Given the description of an element on the screen output the (x, y) to click on. 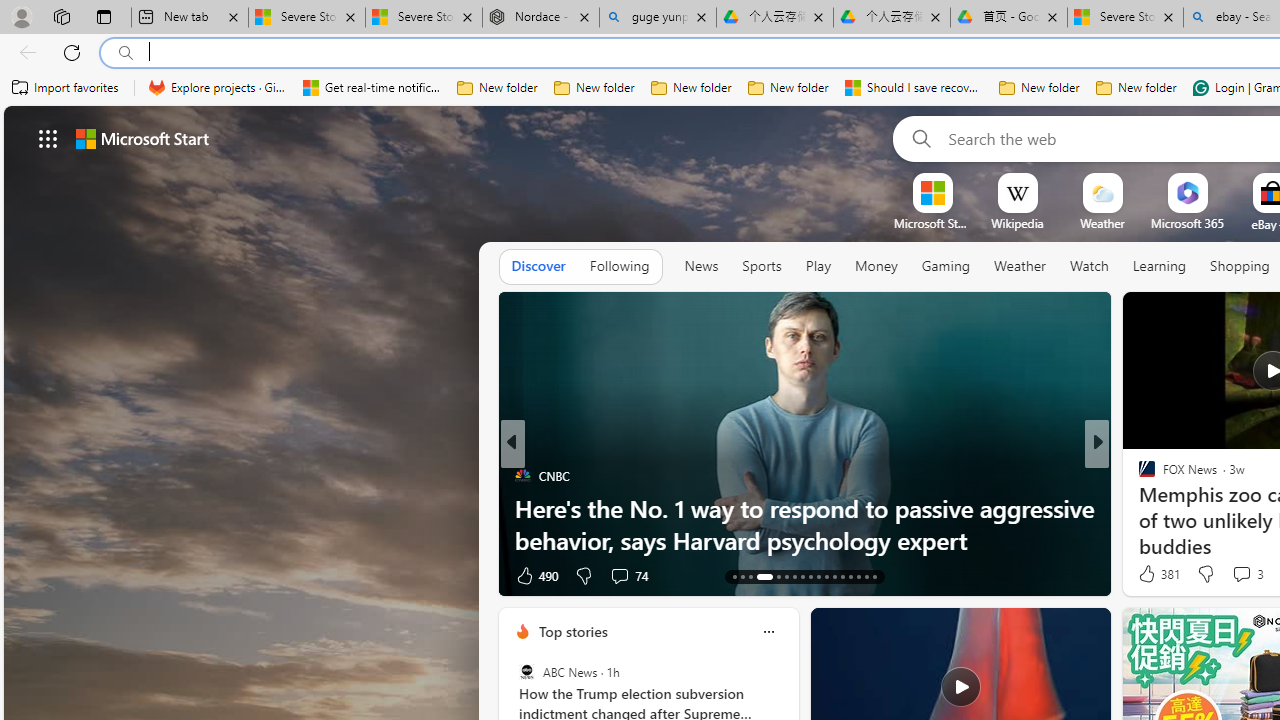
Search icon (125, 53)
AutomationID: tab-18 (786, 576)
192 Like (1151, 574)
Should I save recovered Word documents? - Microsoft Support (913, 88)
View comments 100 Comment (1229, 575)
Wikipedia (1017, 223)
AutomationID: tab-13 (733, 576)
